Given the description of an element on the screen output the (x, y) to click on. 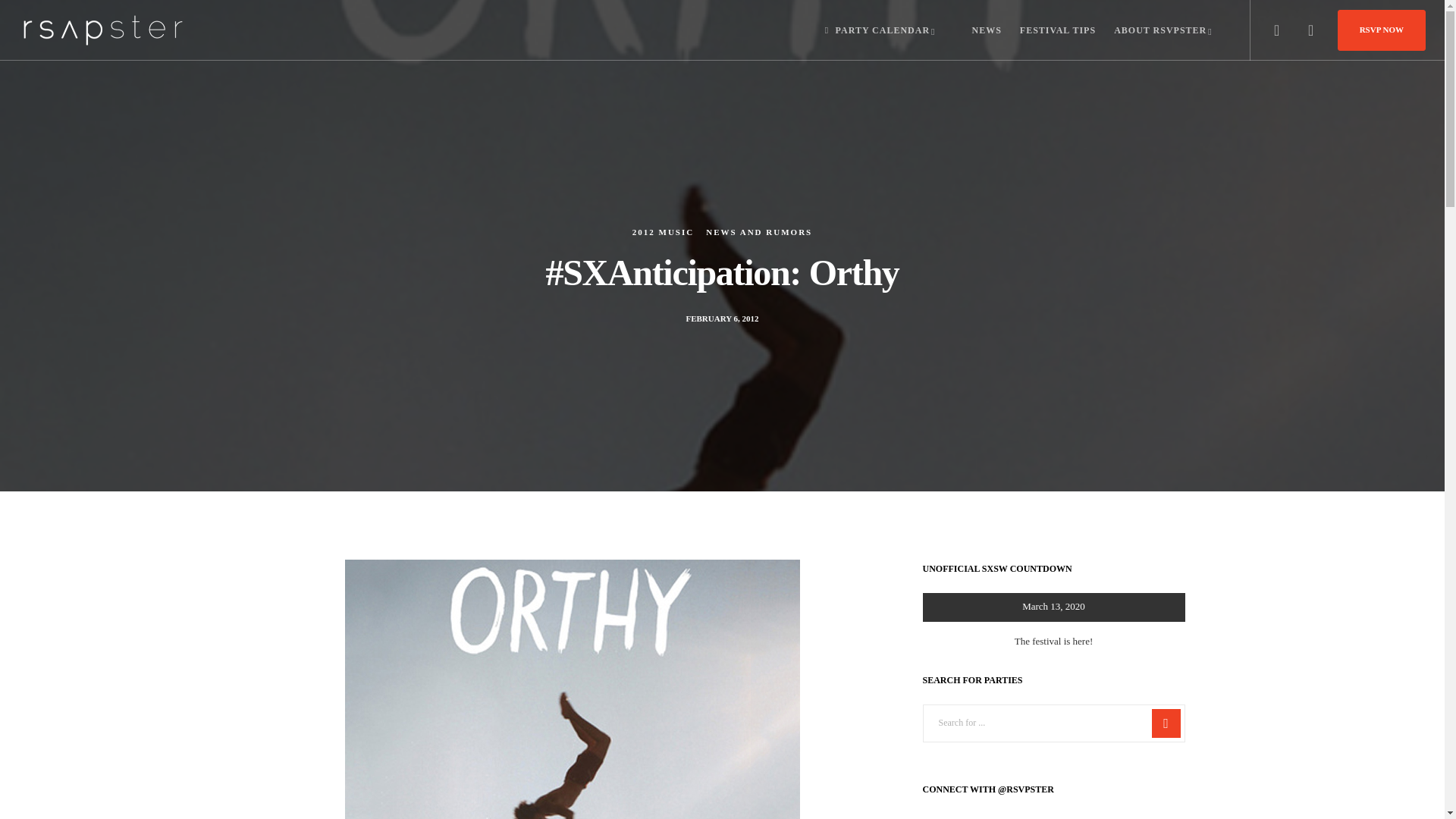
2012 MUSIC (662, 231)
NEWS (977, 30)
ABOUT RSVPSTER (1163, 30)
NEWS AND RUMORS (759, 231)
PARTY CALENDAR (879, 30)
FESTIVAL TIPS (1048, 30)
RSVP NOW (1381, 29)
